Given the description of an element on the screen output the (x, y) to click on. 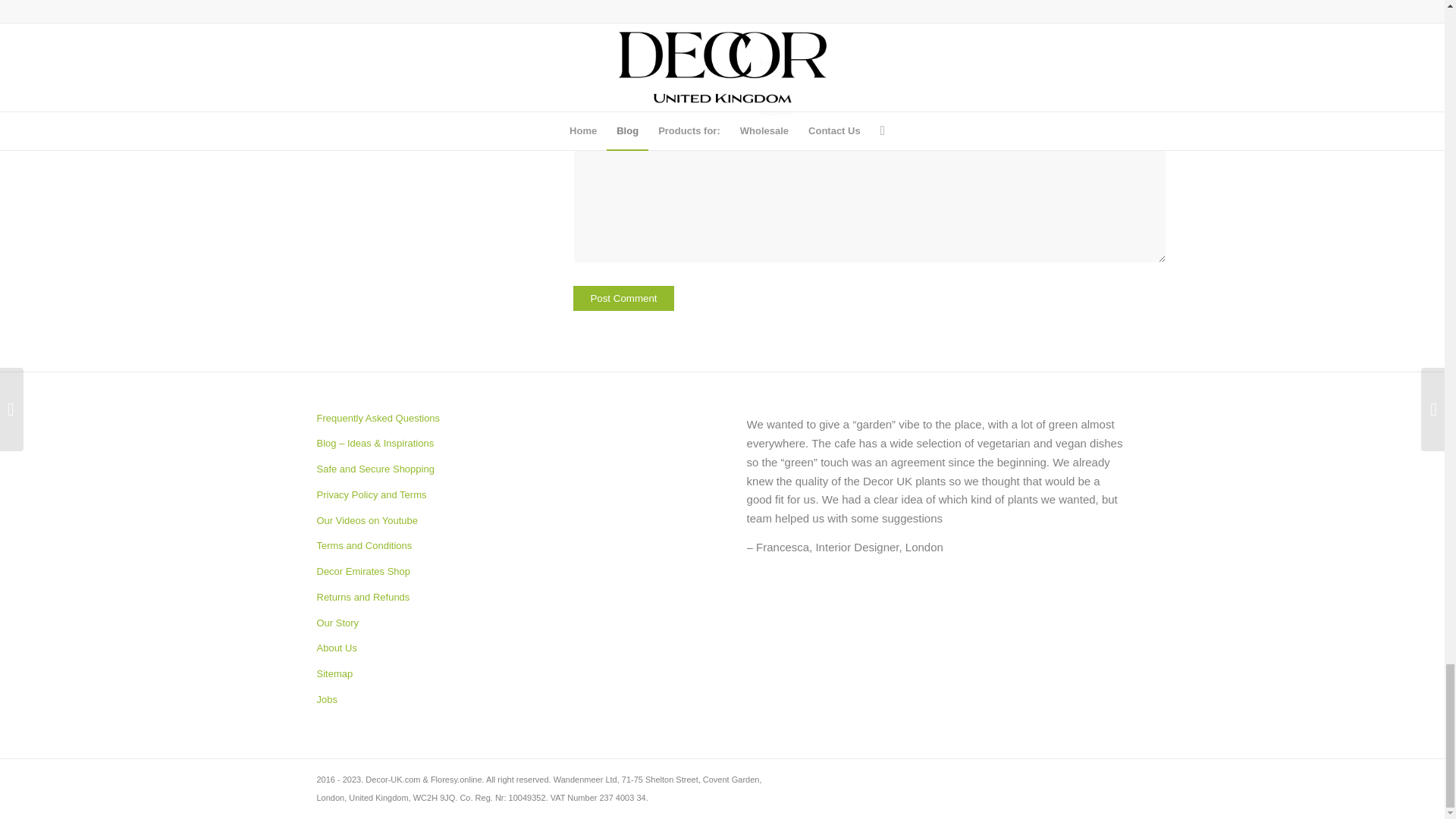
Post Comment (622, 298)
Post Comment (622, 298)
